Given the description of an element on the screen output the (x, y) to click on. 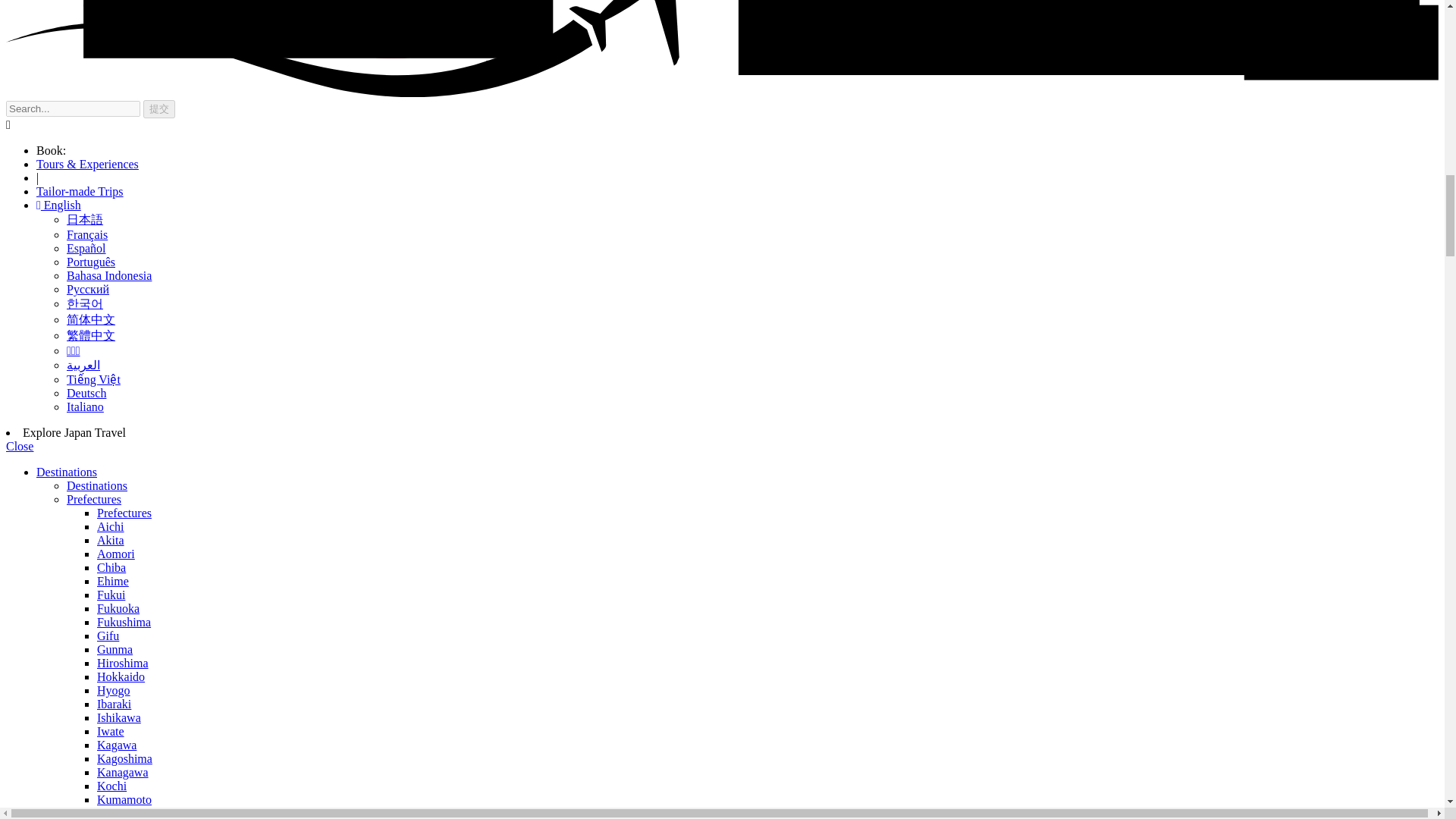
Gunma (114, 649)
Deutsch (86, 392)
Hiroshima (122, 662)
English (58, 205)
Aichi (110, 526)
Hokkaido (120, 676)
Bahasa Indonesia (108, 275)
Destinations (97, 485)
Fukushima (124, 621)
Aomori (116, 553)
Chiba (111, 567)
Tailor-made Trips (79, 191)
Prefectures (93, 499)
Fukui (111, 594)
Prefectures (124, 512)
